Given the description of an element on the screen output the (x, y) to click on. 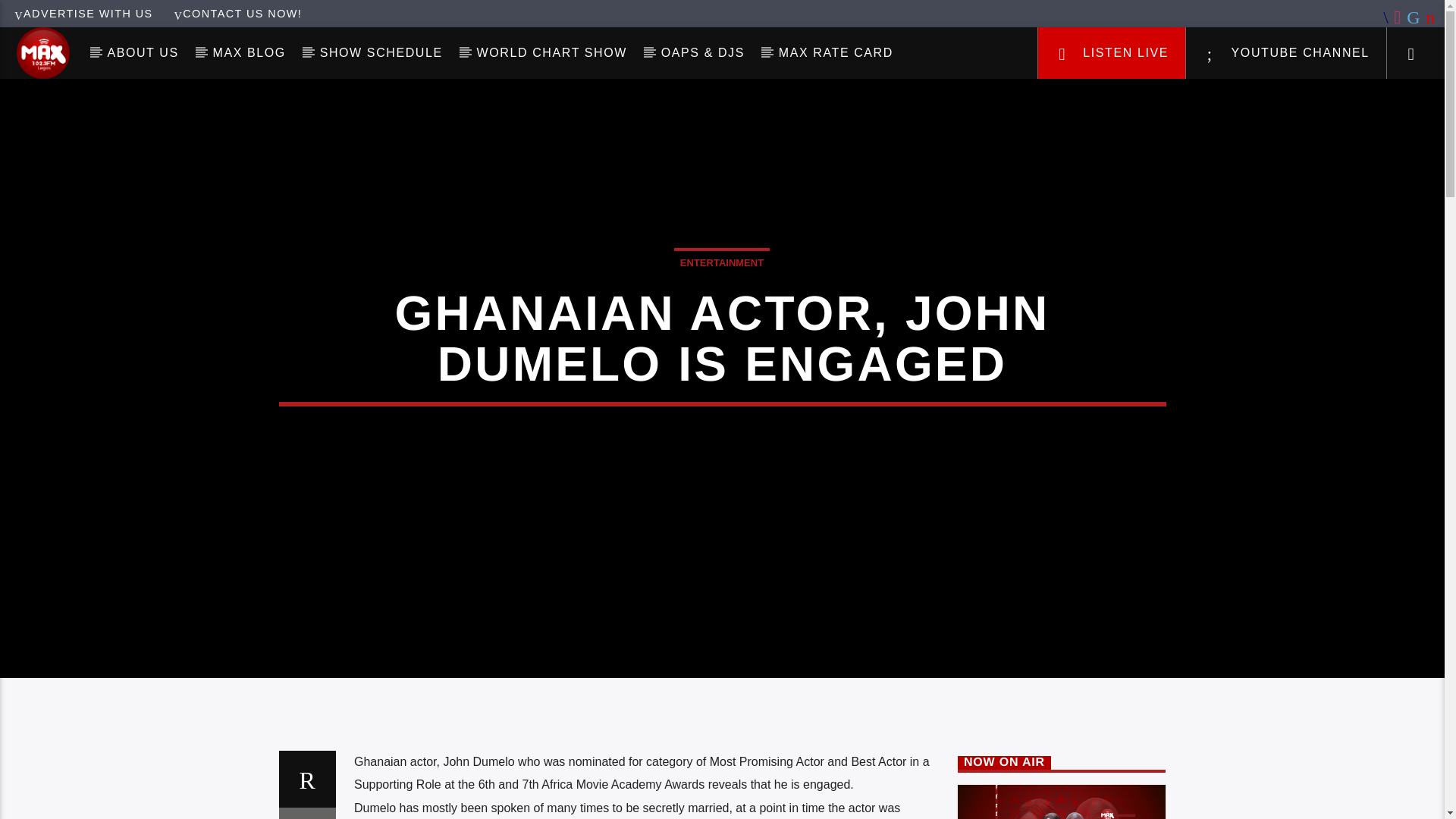
ENTERTAINMENT (722, 261)
MAX BLOG (248, 52)
YOUTUBE CHANNEL (1286, 52)
WORLD CHART SHOW (551, 52)
ABOUT US (142, 52)
SHOW SCHEDULE (381, 52)
ADVERTISE WITH US (83, 13)
MAX RATE CARD (835, 52)
LISTEN LIVE (1112, 52)
Search (1203, 100)
CONTACT US NOW! (237, 13)
